Given the description of an element on the screen output the (x, y) to click on. 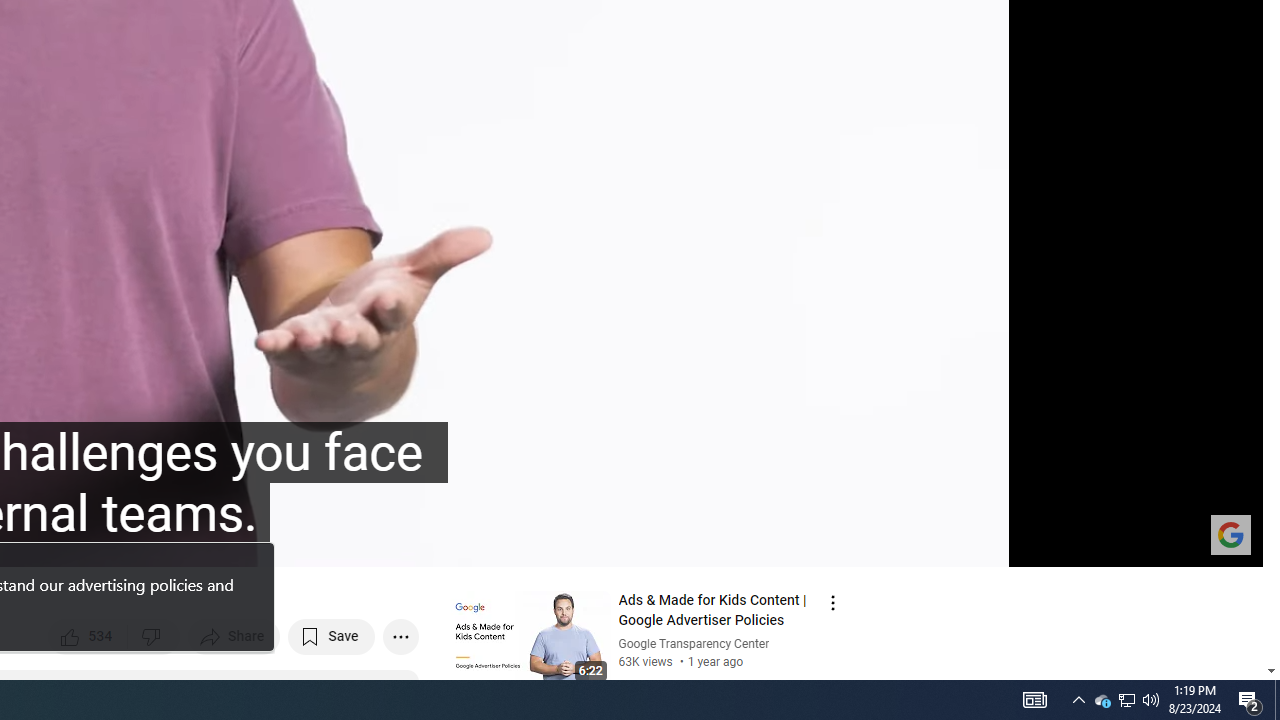
Miniplayer (i) (1130, 543)
Theater mode (t) (1178, 543)
Channel watermark (1230, 534)
Action menu (832, 602)
More actions (399, 636)
Channel watermark (1230, 534)
Autoplay is on (986, 543)
Full screen (f) (1226, 543)
Save to playlist (331, 636)
Share (234, 636)
like this video along with 534 other people (88, 636)
Subtitles/closed captions unavailable (1034, 543)
